Given the description of an element on the screen output the (x, y) to click on. 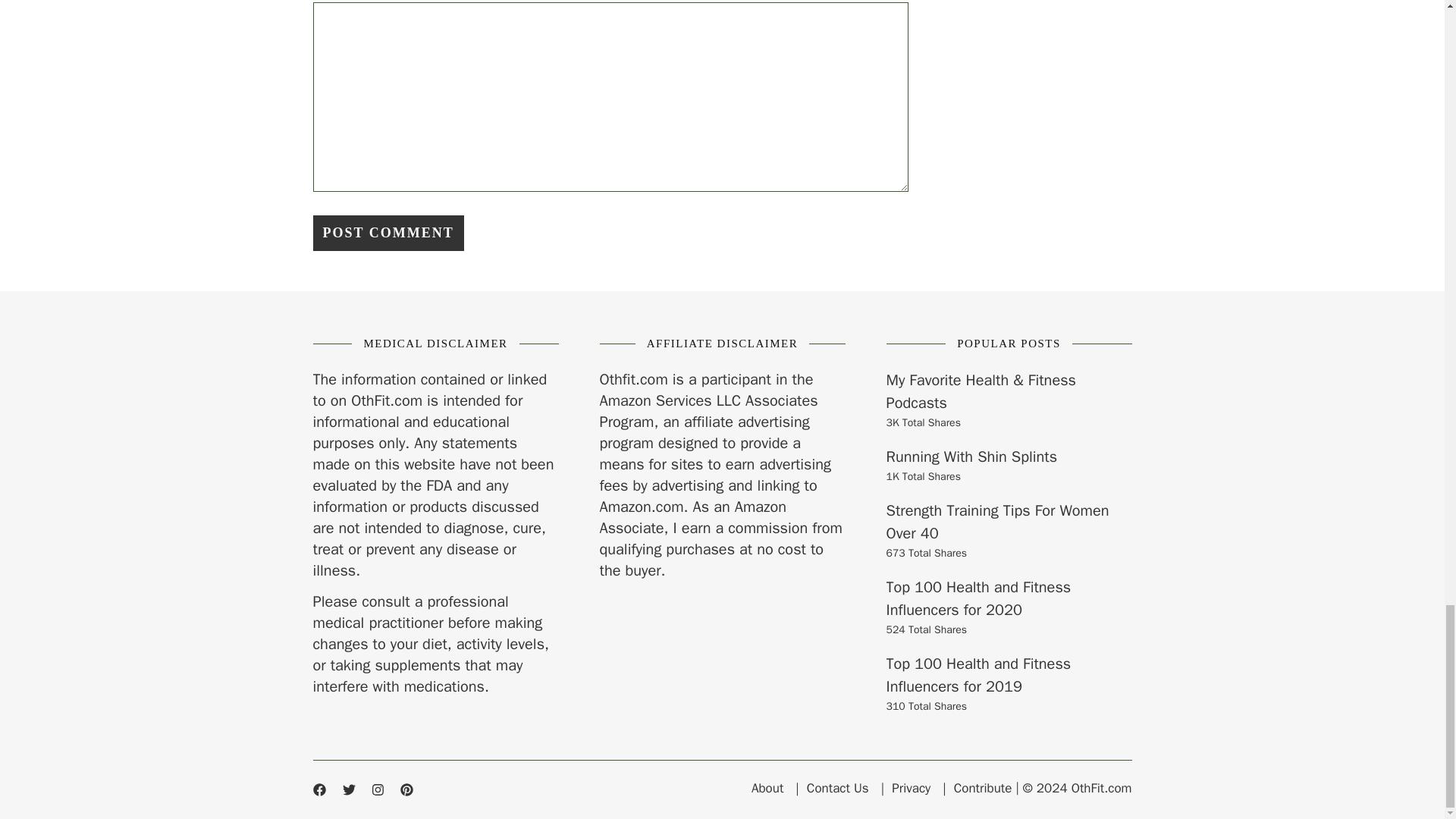
Post Comment (388, 232)
